Given the description of an element on the screen output the (x, y) to click on. 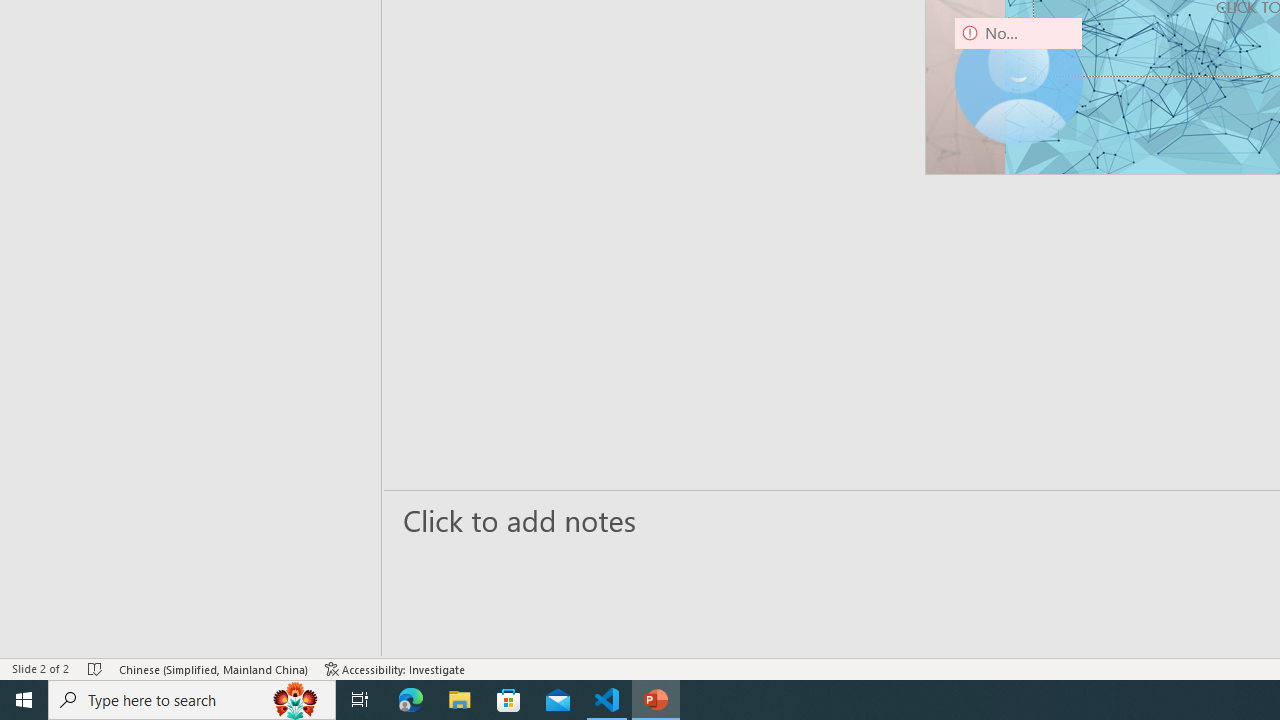
Camera 9, No camera detected. (1018, 80)
